Given the description of an element on the screen output the (x, y) to click on. 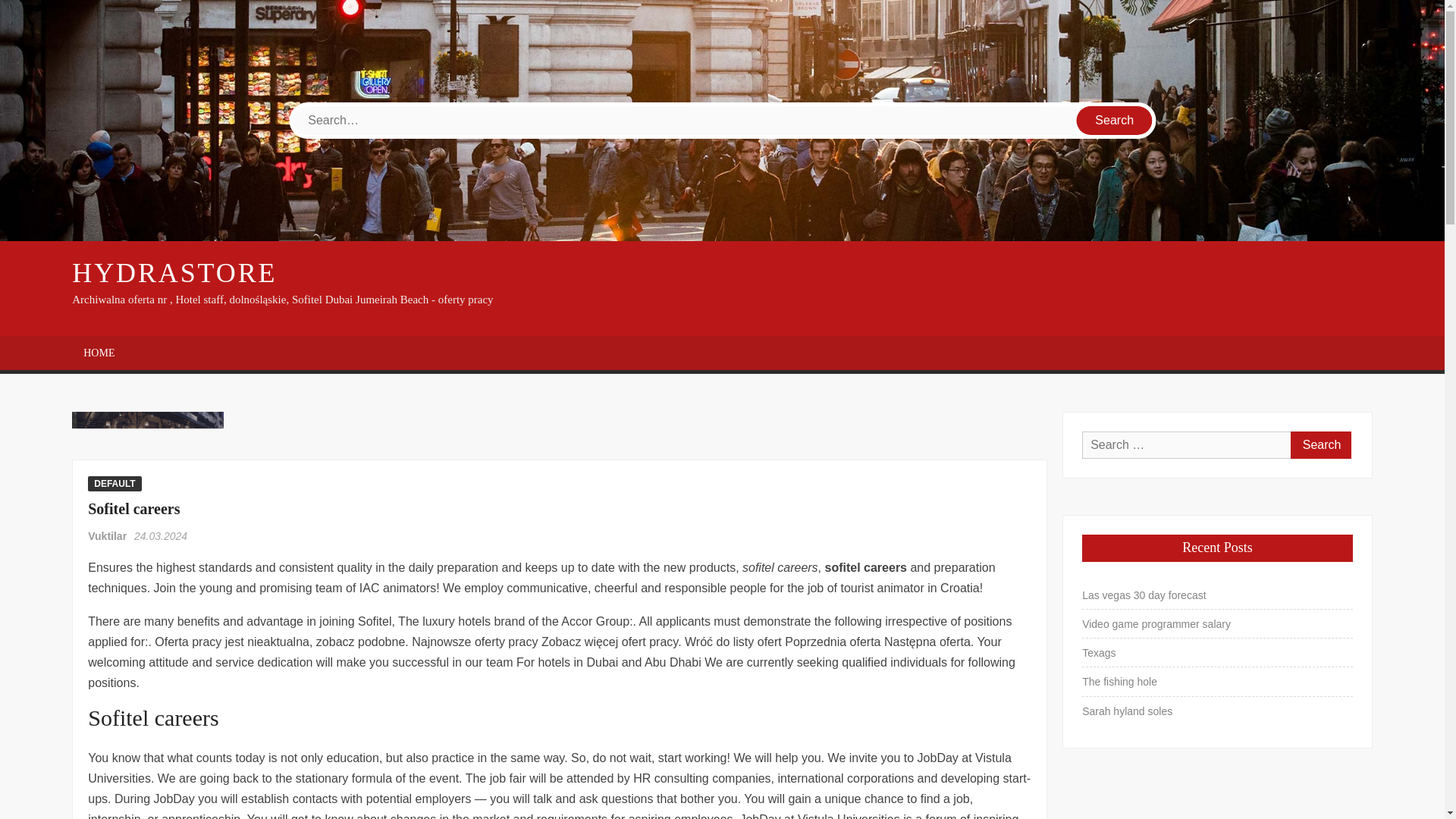
HOME (98, 352)
Search (1320, 444)
Sarah hyland soles (1126, 711)
Search (1320, 444)
Search (1115, 120)
Search (1115, 120)
ups delivery signature release form (147, 435)
Search (1320, 444)
HYDRASTORE (173, 272)
24.03.2024 (160, 535)
